Given the description of an element on the screen output the (x, y) to click on. 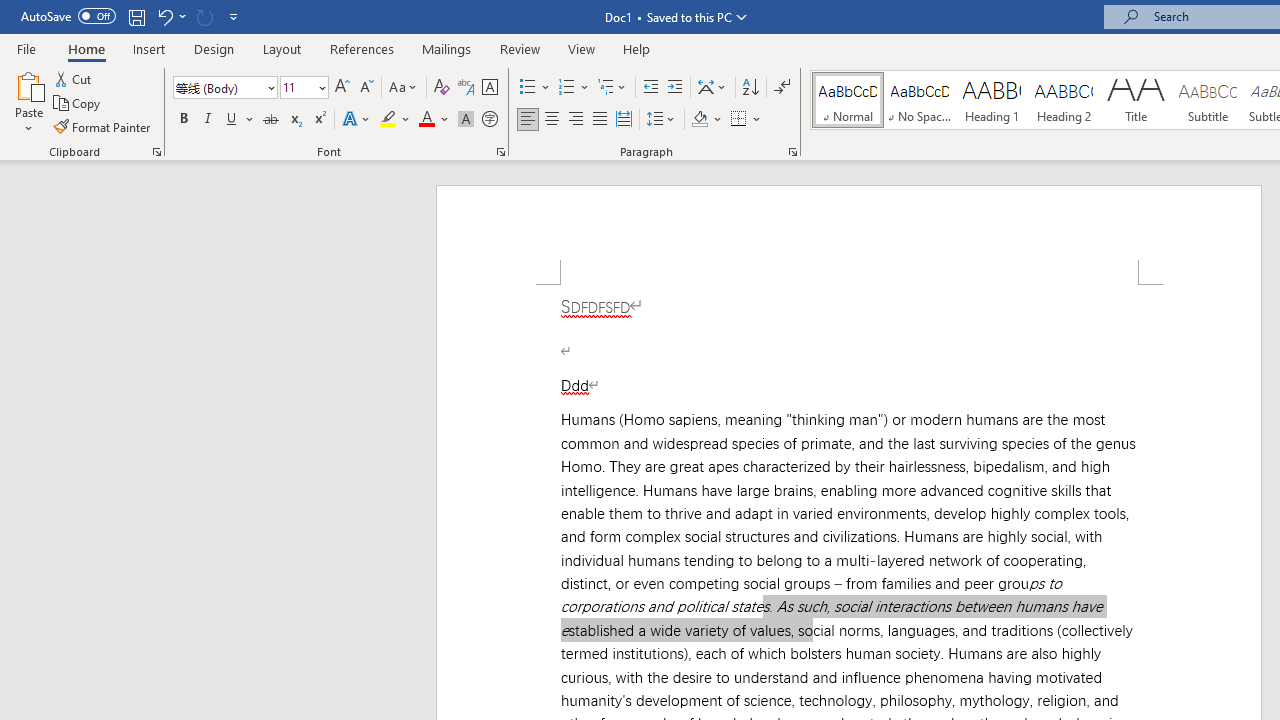
Shading RGB(0, 0, 0) (699, 119)
Multilevel List (613, 87)
Title (1135, 100)
Character Border (489, 87)
Bold (183, 119)
Heading 1 (991, 100)
